Given the description of an element on the screen output the (x, y) to click on. 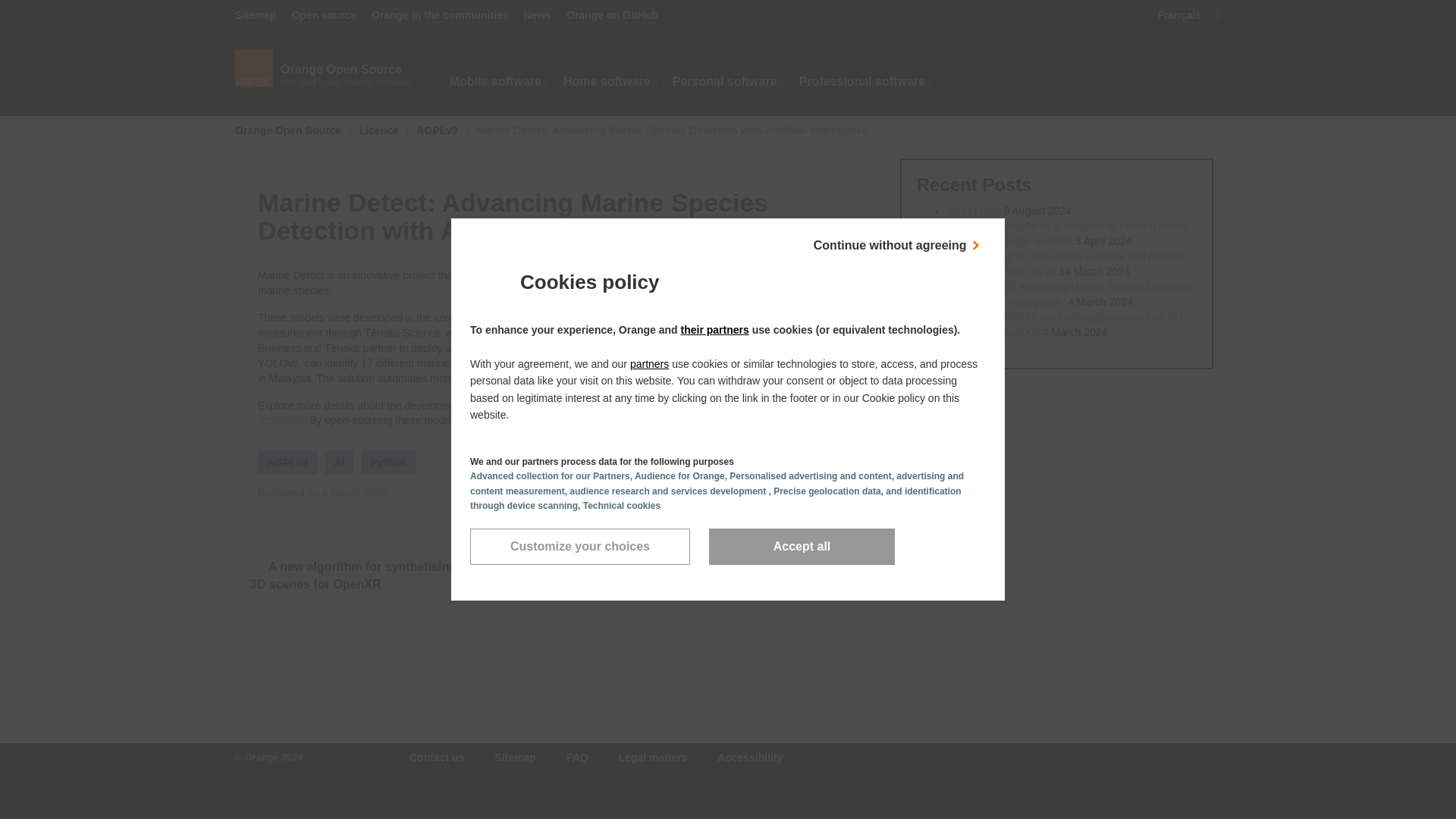
Orange on GitHub (612, 14)
News (537, 14)
Mobile software (498, 81)
Orange in the communities (439, 14)
Personal software (330, 58)
Customize your choices (728, 81)
Open Mobile software menu (580, 546)
All entries in Licence (498, 81)
Accept all (378, 130)
